Given the description of an element on the screen output the (x, y) to click on. 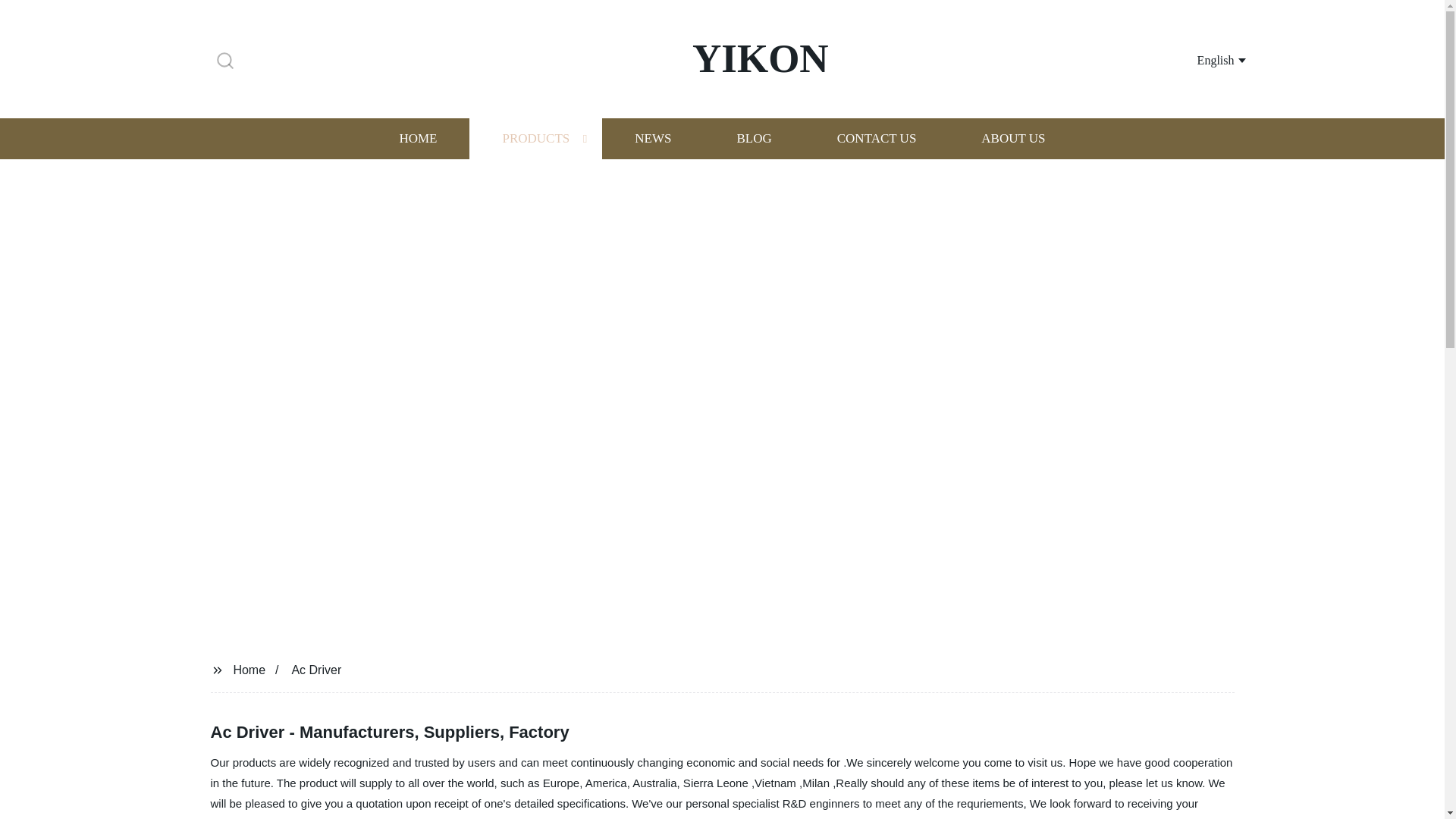
English (1203, 59)
CONTACT US (877, 137)
Home (248, 668)
HOME (417, 137)
PRODUCTS (535, 137)
Ac Driver (315, 668)
English (1203, 59)
ABOUT US (1013, 137)
BLOG (753, 137)
NEWS (652, 137)
